Given the description of an element on the screen output the (x, y) to click on. 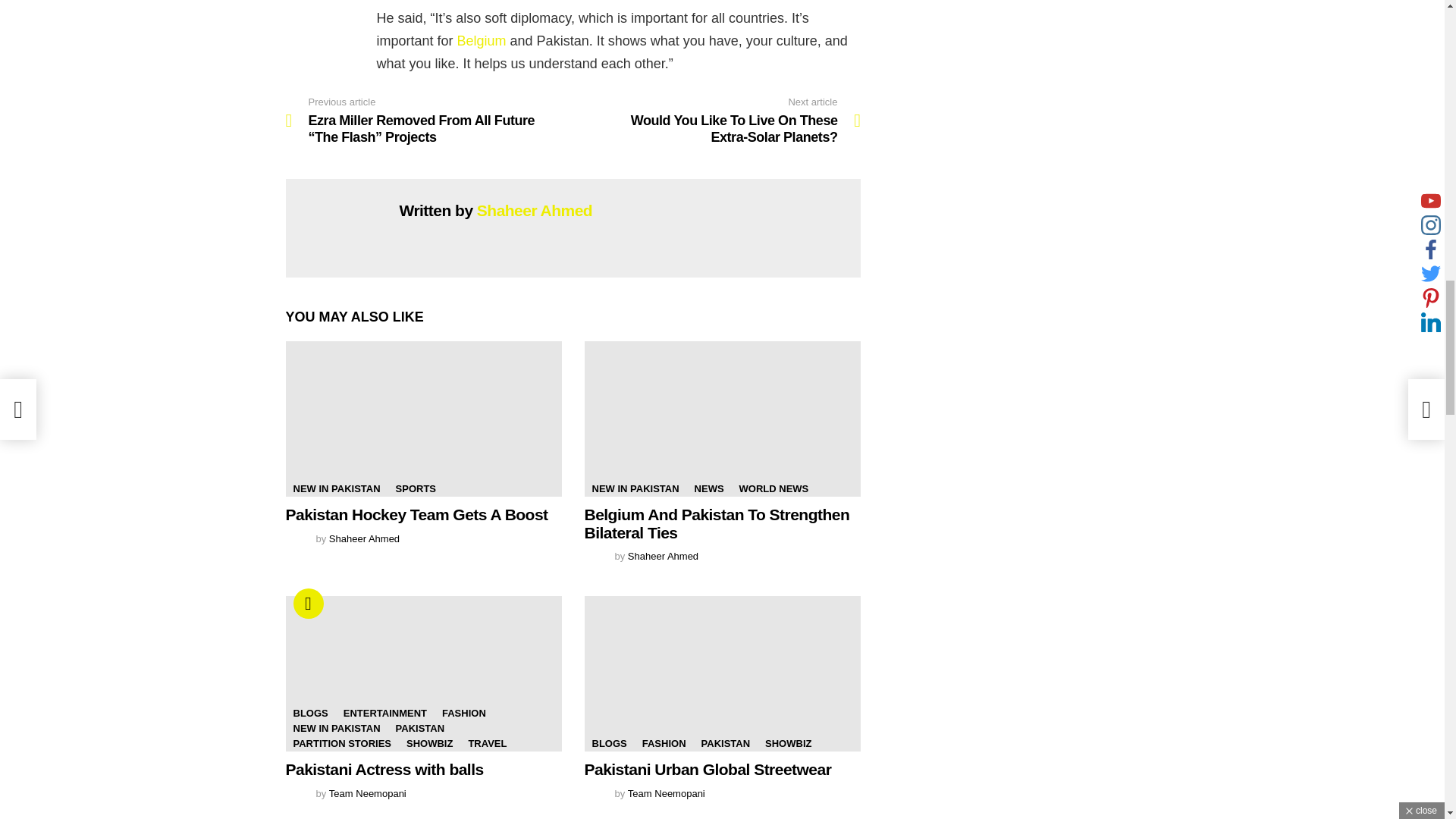
Shaheer Ahmed (363, 538)
Pakistan Hockey Team Gets A Boost (422, 418)
Pakistani Urban Global Streetwear (721, 673)
Trending (307, 603)
Posts by Shaheer Ahmed (662, 555)
Posts by Shaheer Ahmed (363, 538)
NEW IN PAKISTAN (634, 488)
Shaheer Ahmed (534, 210)
Belgium (481, 40)
Belgium And Pakistan To Strengthen Bilateral Ties (721, 418)
Posts by Team Neemopani (367, 793)
SPORTS (416, 488)
Posts by Team Neemopani (665, 793)
Pakistan Hockey Team Gets A Boost (416, 514)
Belgium And Pakistan To Strengthen Bilateral Ties (715, 523)
